Given the description of an element on the screen output the (x, y) to click on. 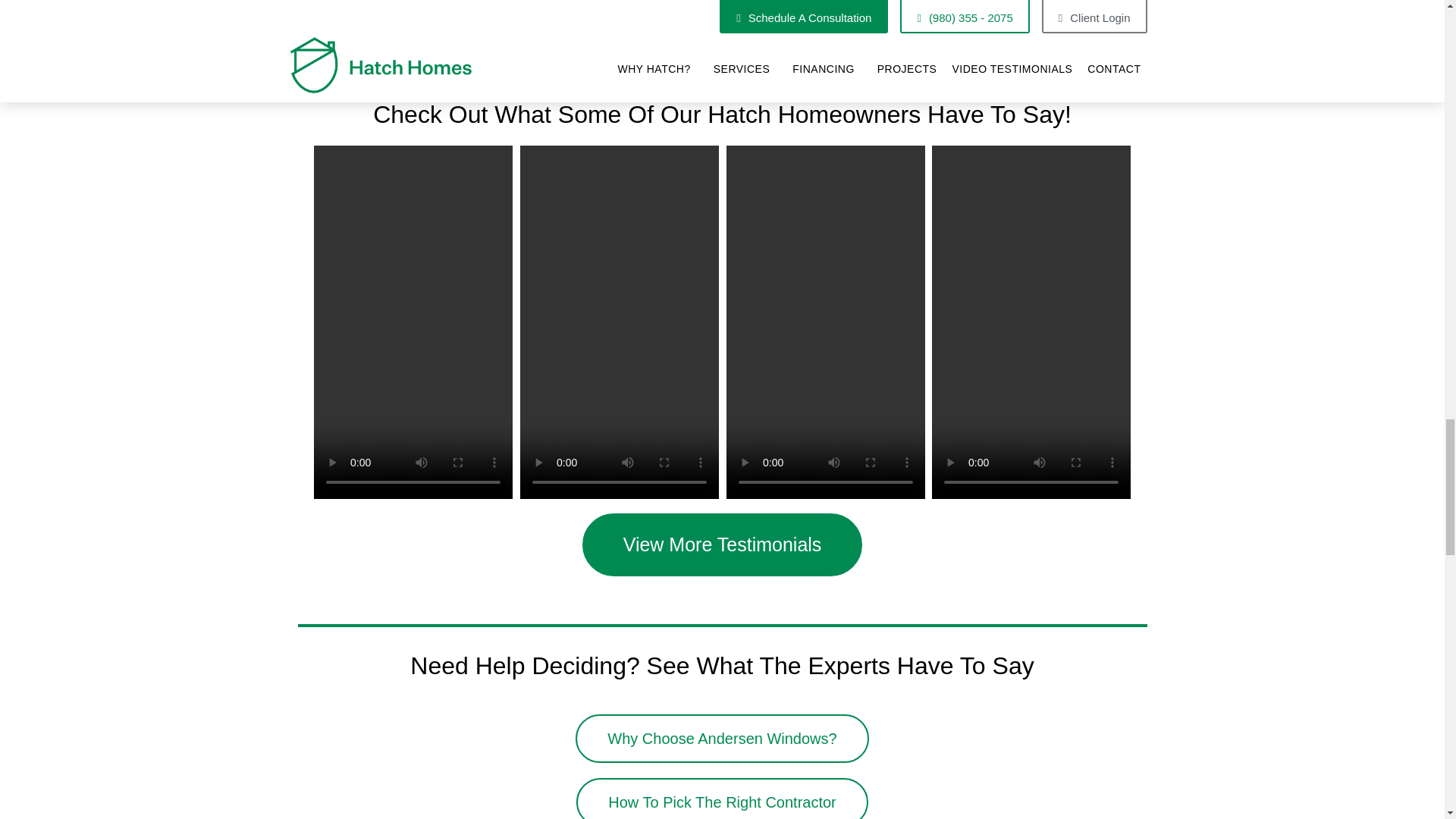
New Window Installation Section (1010, 22)
